Given the description of an element on the screen output the (x, y) to click on. 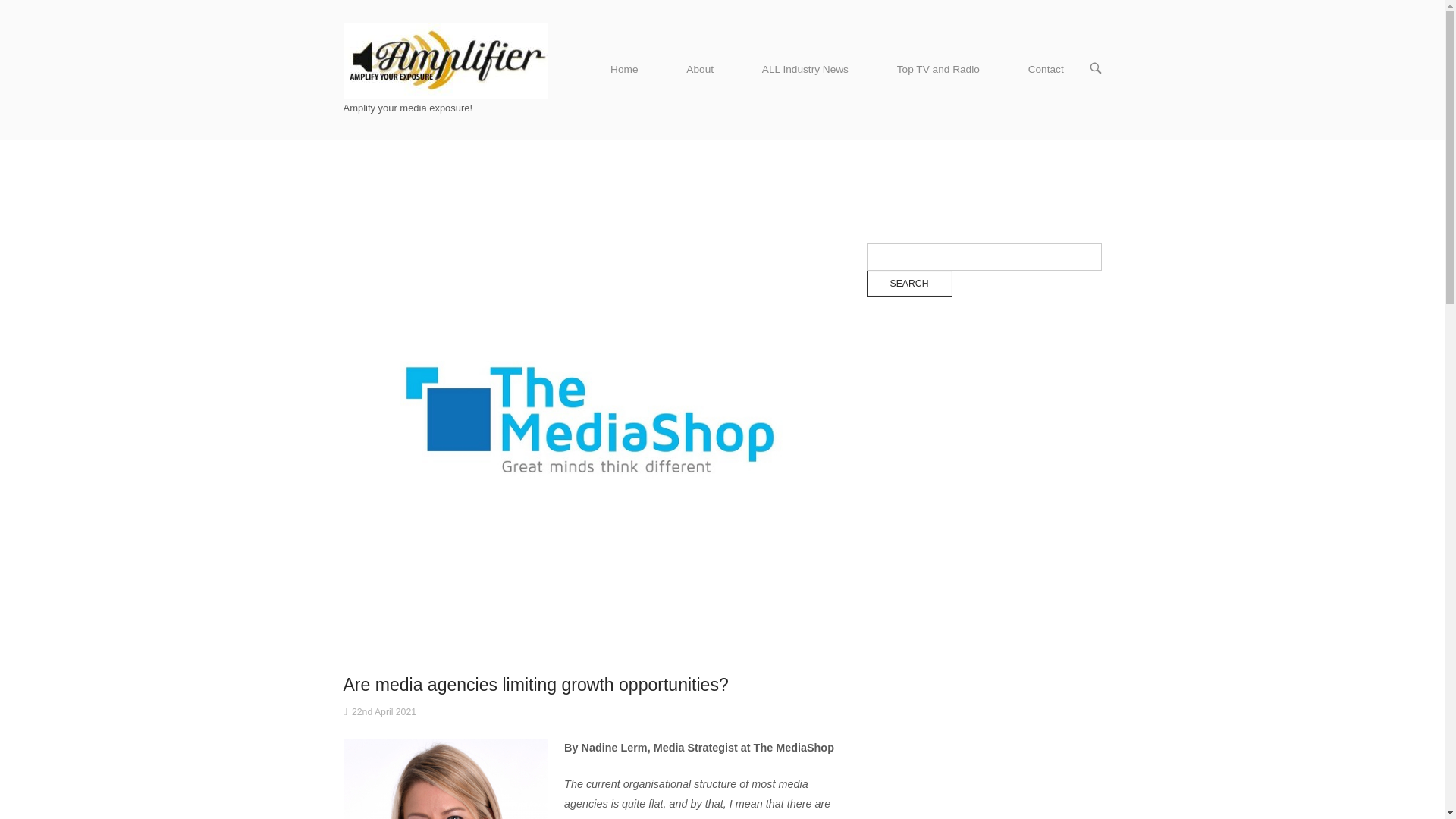
Home (624, 69)
About (699, 69)
Search (909, 283)
ALL Industry News (804, 69)
Top TV and Radio (939, 69)
22nd April 2021 (384, 711)
Contact (1046, 69)
